Given the description of an element on the screen output the (x, y) to click on. 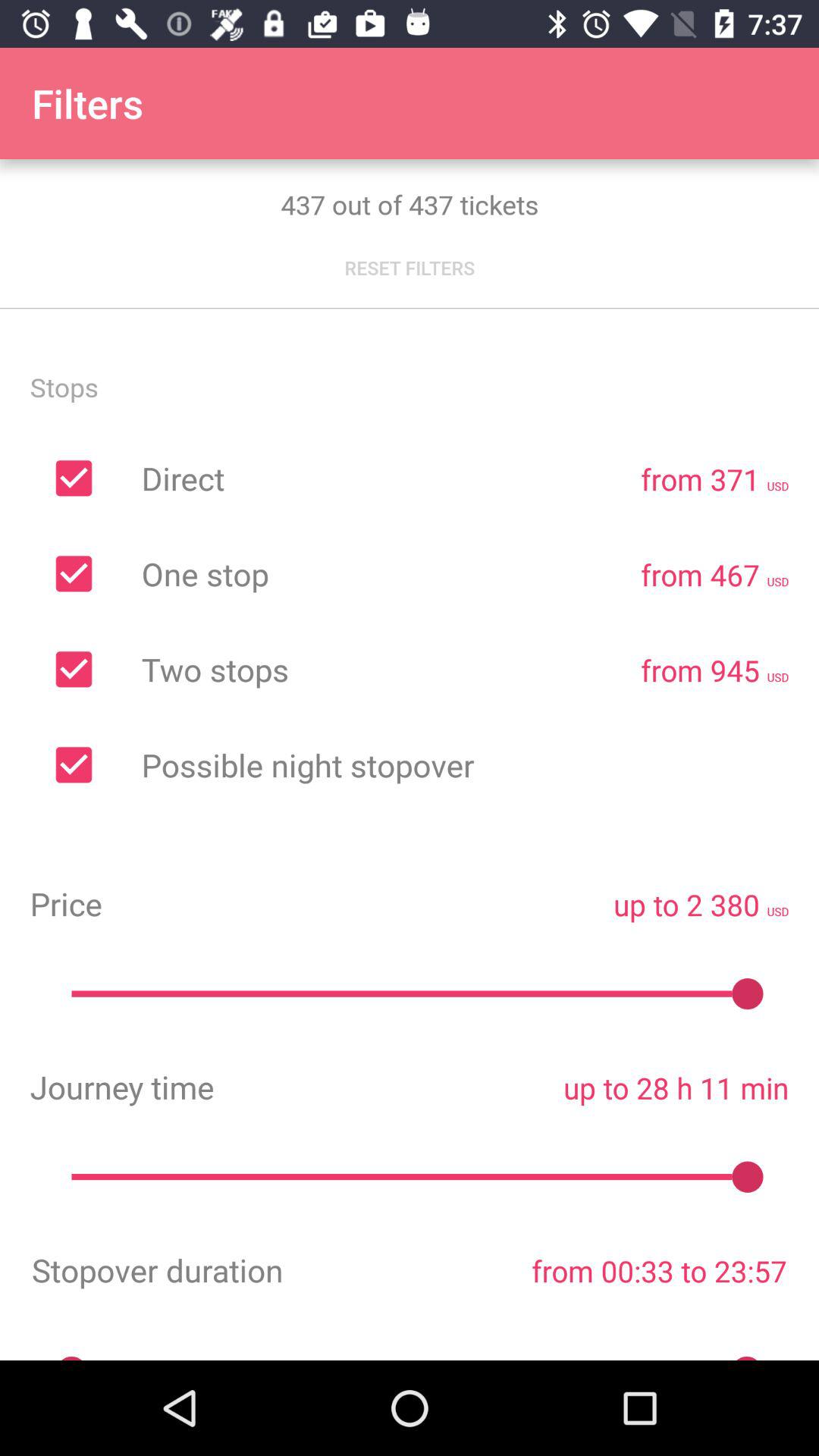
jump to the reset filters icon (409, 268)
